Given the description of an element on the screen output the (x, y) to click on. 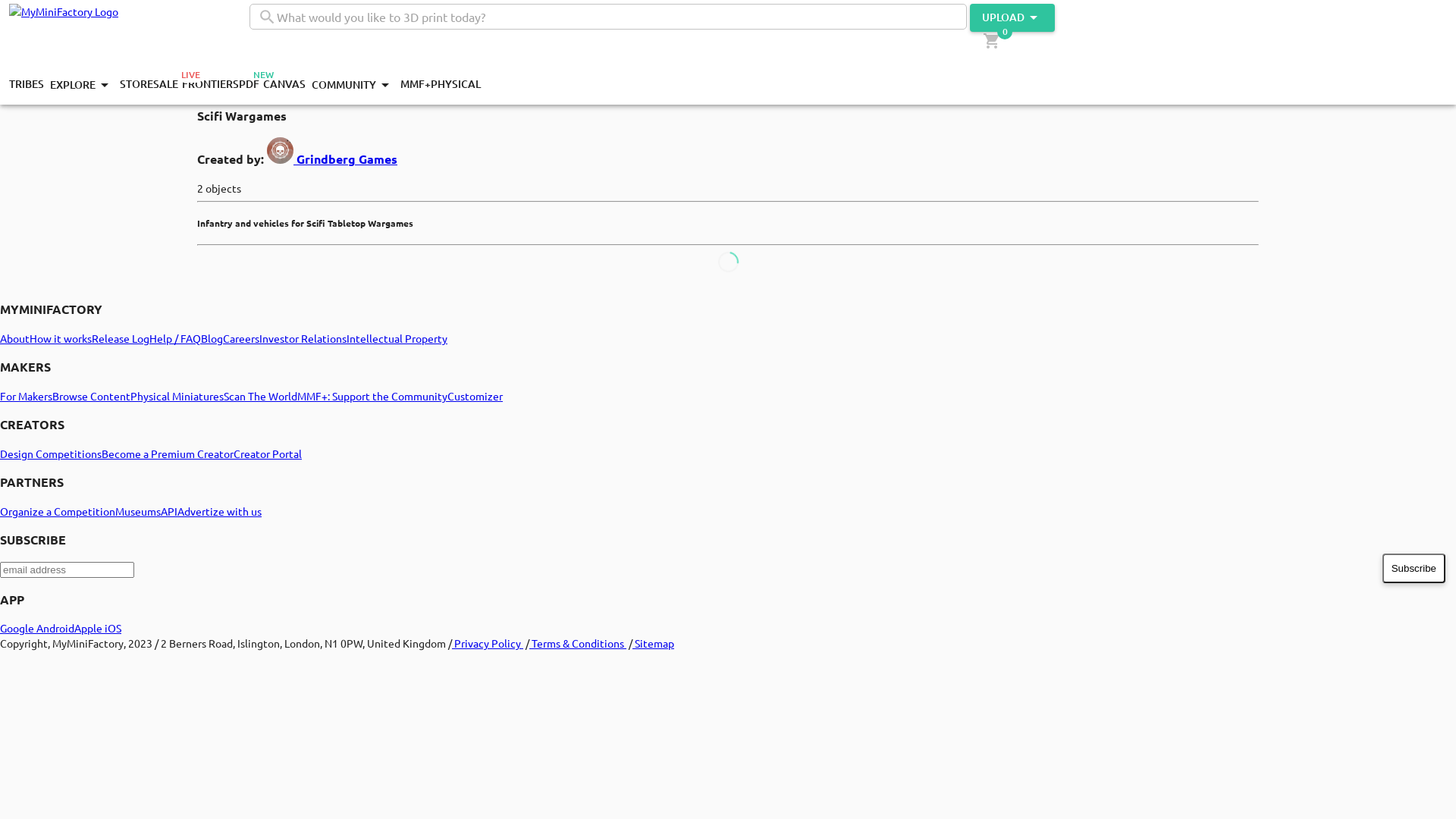
Physical Miniatures Element type: text (176, 395)
MMF+: Support the Community Element type: text (372, 395)
TRIBES Element type: text (26, 84)
Subscribe Element type: text (1413, 568)
Design Competitions Element type: text (50, 453)
Apple iOS Element type: text (97, 627)
Careers Element type: text (240, 337)
Become a Premium Creator Element type: text (167, 453)
UPLOAD Element type: text (1011, 17)
Release Log Element type: text (120, 337)
Organize a Competition Element type: text (57, 510)
PHYSICAL Element type: text (455, 84)
CANVAS Element type: text (284, 84)
Blog Element type: text (211, 337)
COMMUNITY Element type: text (352, 85)
Investor Relations Element type: text (302, 337)
STORE Element type: text (136, 84)
MMF+ Element type: text (415, 84)
Creator Portal Element type: text (267, 453)
0 Element type: text (993, 40)
Help / FAQ Element type: text (174, 337)
API Element type: text (168, 510)
Browse Content Element type: text (91, 395)
Google Android Element type: text (37, 627)
 Privacy Policy  Element type: text (487, 642)
Scan The World Element type: text (260, 395)
How it works Element type: text (60, 337)
For Makers Element type: text (26, 395)
About Element type: text (14, 337)
Customizer Element type: text (474, 395)
 Terms & Conditions  Element type: text (577, 642)
PDF
NEW Element type: text (250, 84)
Museums Element type: text (137, 510)
 Sitemap Element type: text (653, 642)
Grindberg Games Element type: text (346, 158)
SALE
LIVE Element type: text (167, 84)
FRONTIERS Element type: text (210, 84)
EXPLORE Element type: text (81, 85)
Advertize with us Element type: text (219, 510)
Intellectual Property Element type: text (396, 337)
